Given the description of an element on the screen output the (x, y) to click on. 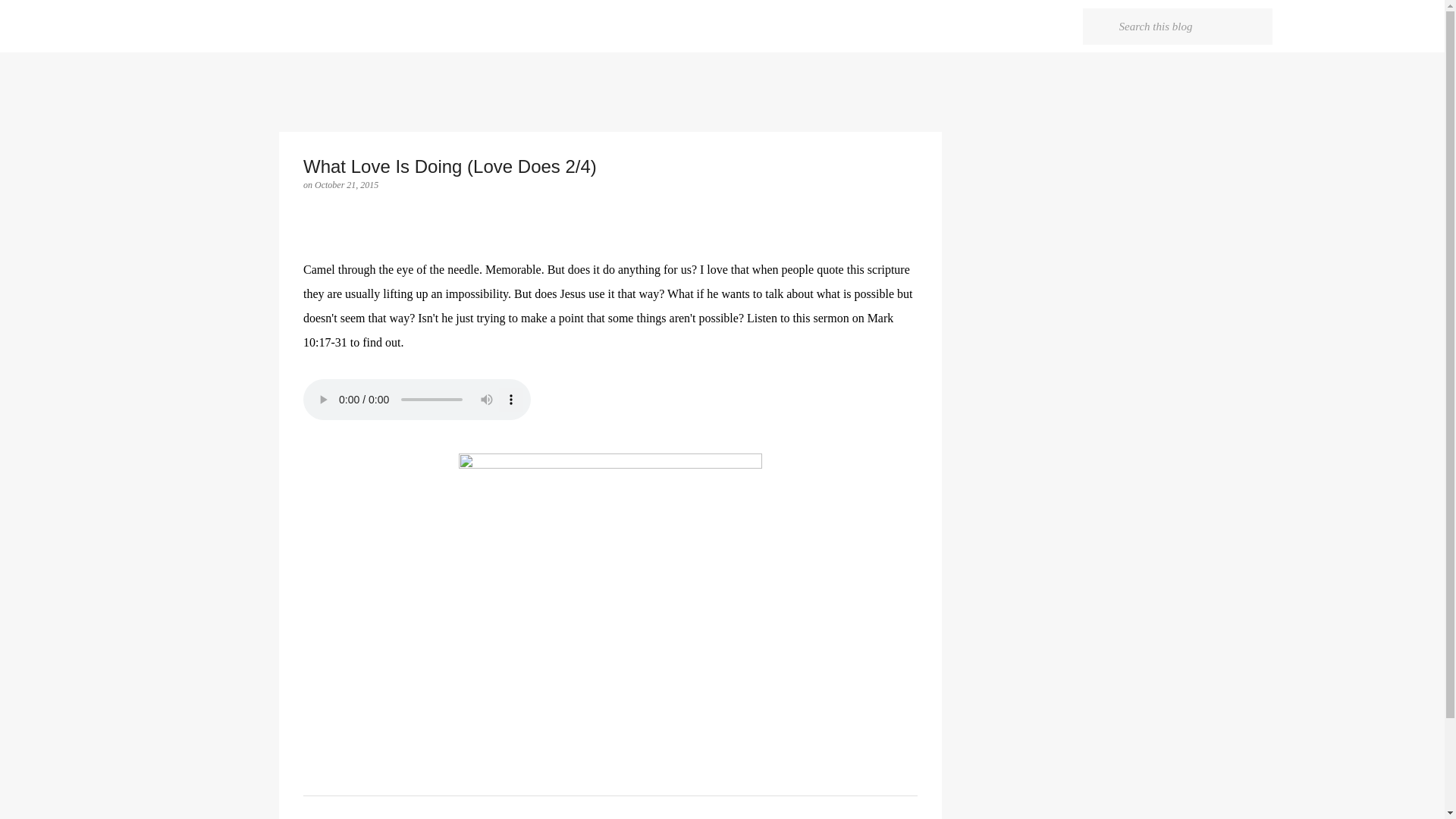
permanent link (346, 184)
October 21, 2015 (346, 184)
A United Method (292, 25)
